Given the description of an element on the screen output the (x, y) to click on. 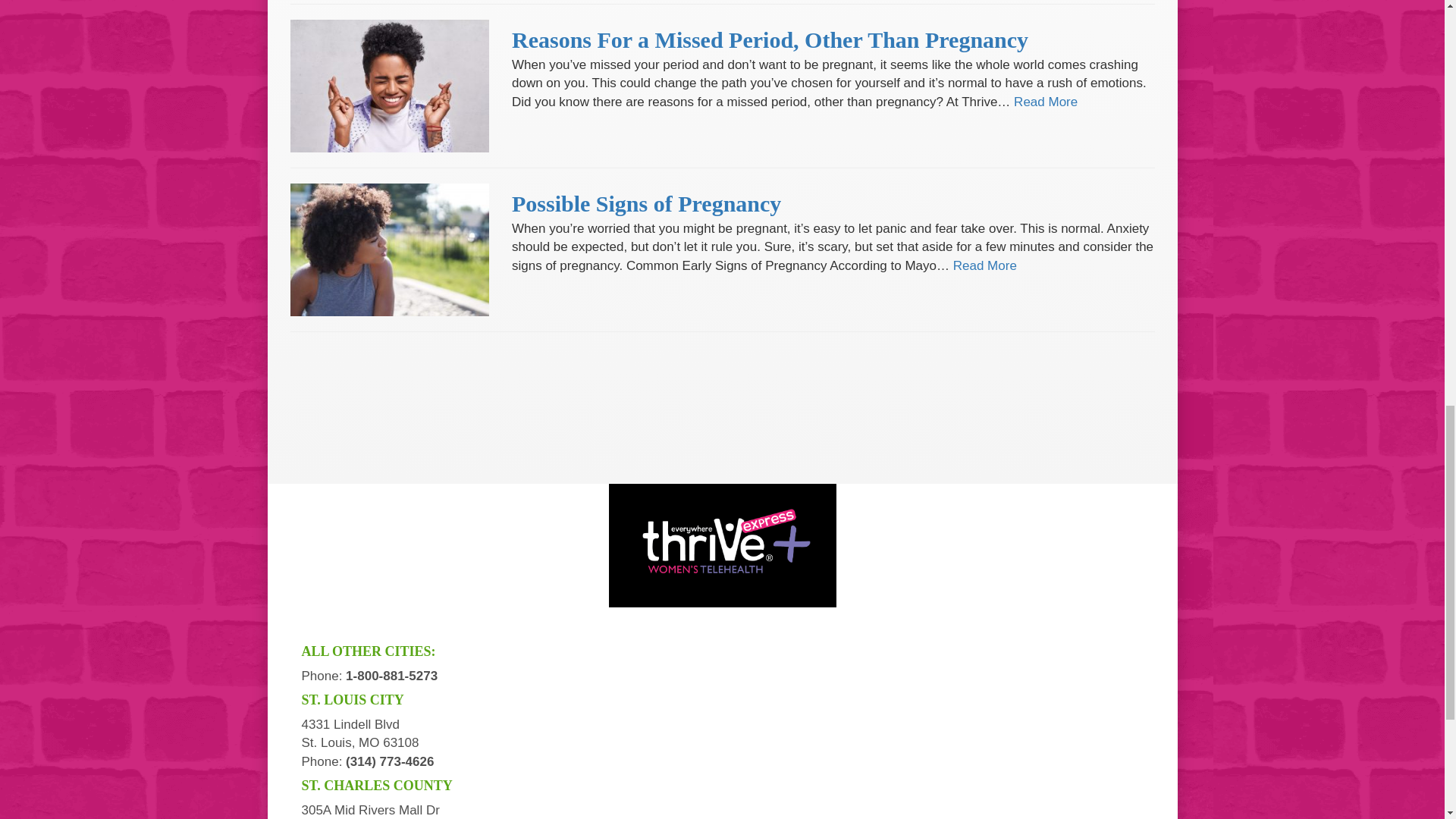
Read More (1045, 101)
Read More (984, 265)
Reasons For a Missed Period, Other Than Pregnancy (769, 39)
Possible Signs of Pregnancy (646, 203)
